Given the description of an element on the screen output the (x, y) to click on. 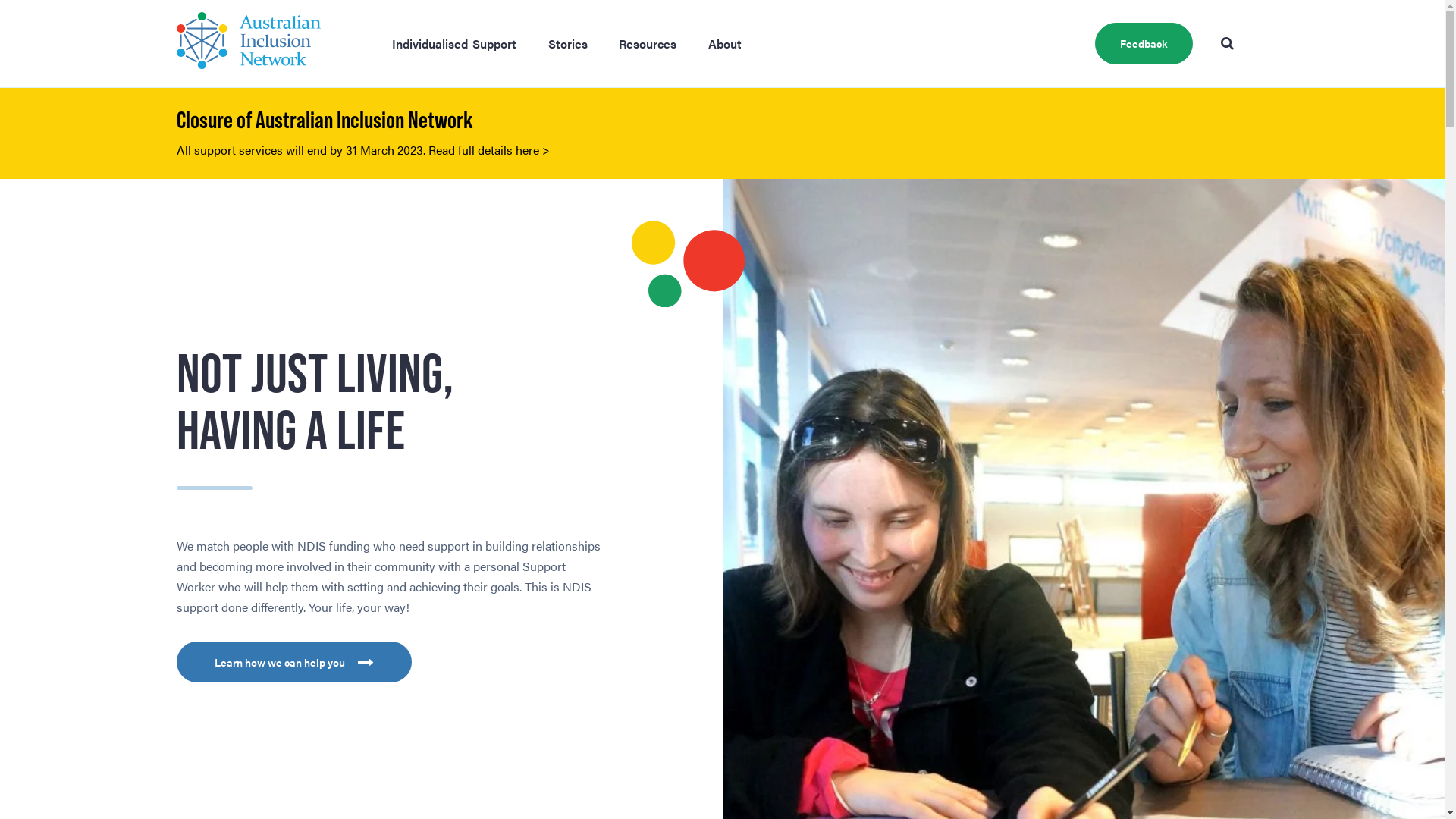
Learn how we can help you Element type: text (293, 661)
Australian Inclusion Network Element type: hover (247, 43)
Resources Element type: text (647, 43)
Individualised Support Element type: text (454, 43)
Feedback Element type: text (1143, 43)
About Element type: text (724, 43)
Stories Element type: text (567, 43)
